Given the description of an element on the screen output the (x, y) to click on. 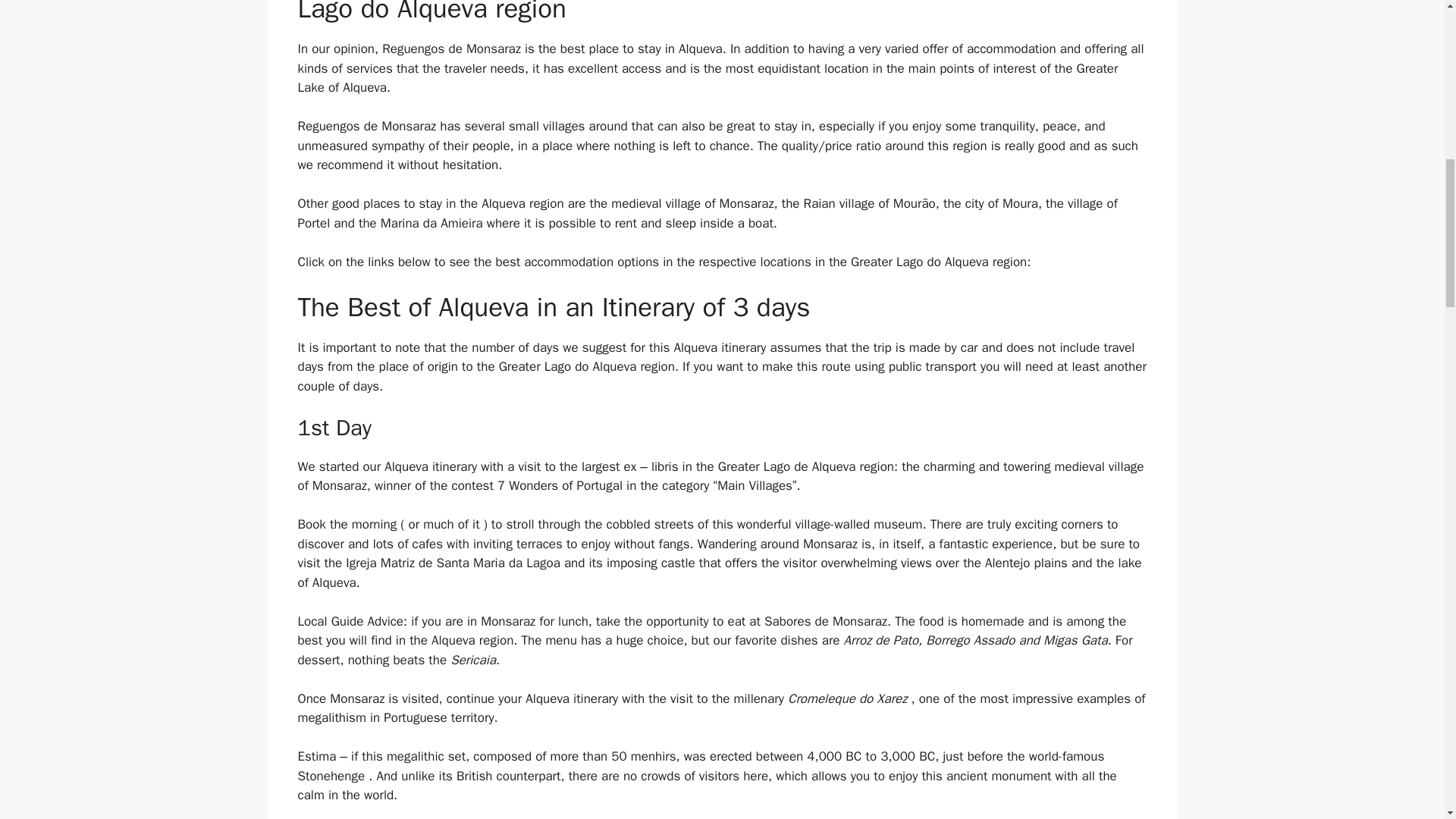
Scroll back to top (1406, 720)
